Given the description of an element on the screen output the (x, y) to click on. 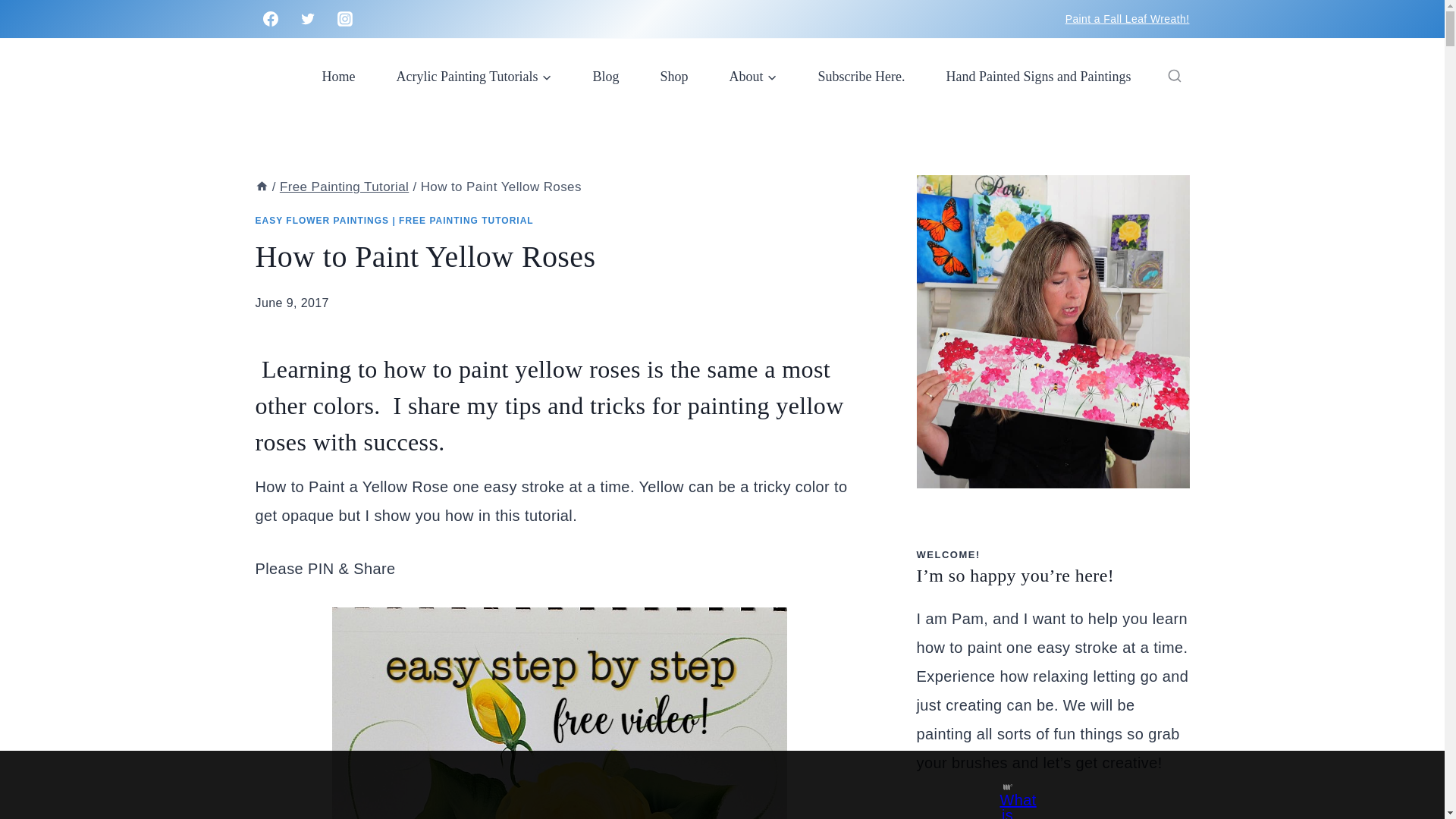
Shop (674, 76)
Home (338, 76)
About (753, 76)
EASY FLOWER PAINTINGS (321, 220)
Paint a Fall Leaf Wreath! (1127, 19)
FREE PAINTING TUTORIAL (466, 220)
Hand Painted Signs and Paintings (1037, 76)
Blog (605, 76)
Home (260, 186)
Acrylic Painting Tutorials (473, 76)
Free Painting Tutorial (344, 186)
Subscribe Here. (861, 76)
